Given the description of an element on the screen output the (x, y) to click on. 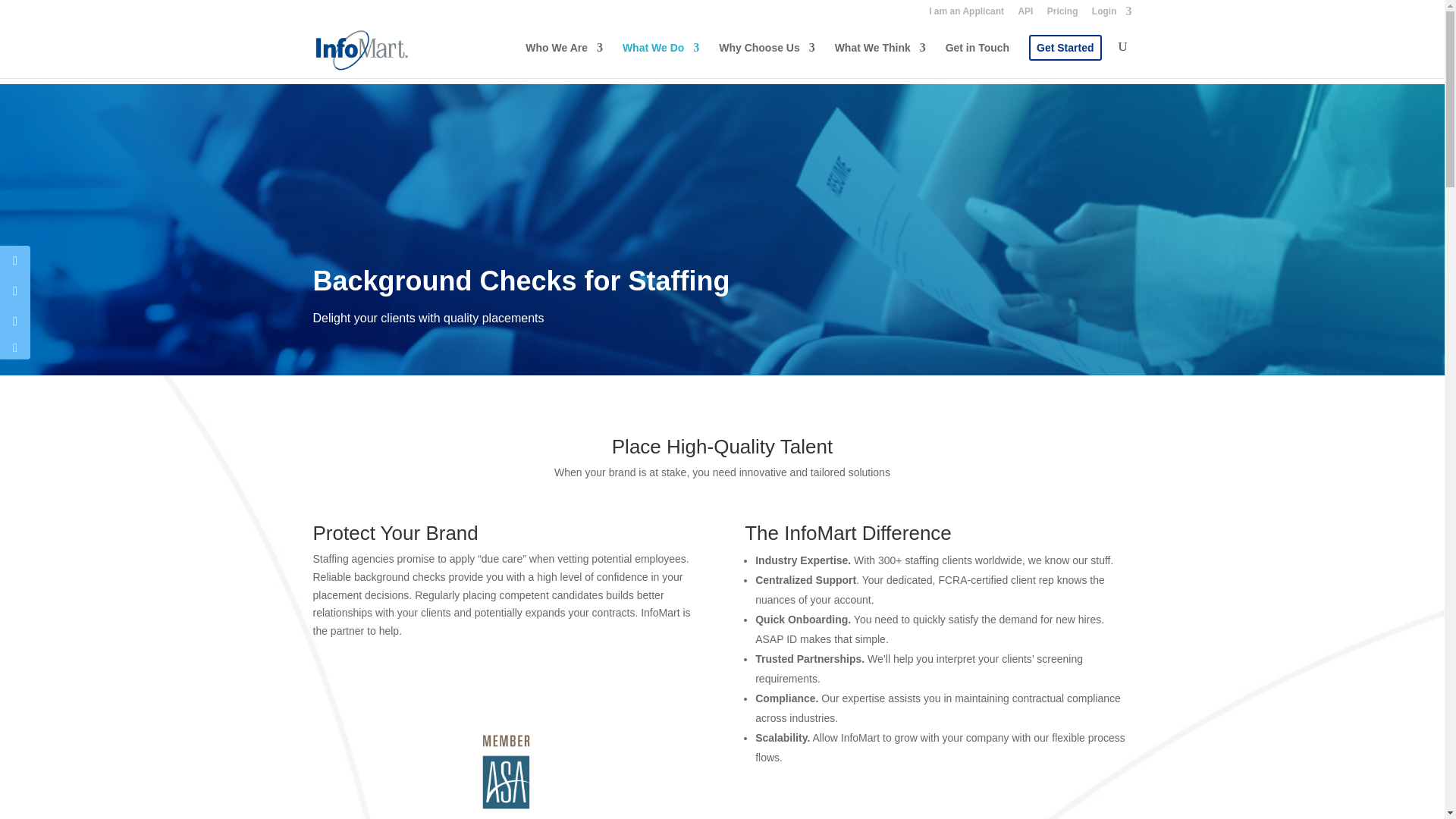
I am an Applicant (966, 14)
Who We Are (563, 59)
API (1024, 14)
What We Do (660, 59)
Pricing (1062, 14)
Login (1112, 14)
